Given the description of an element on the screen output the (x, y) to click on. 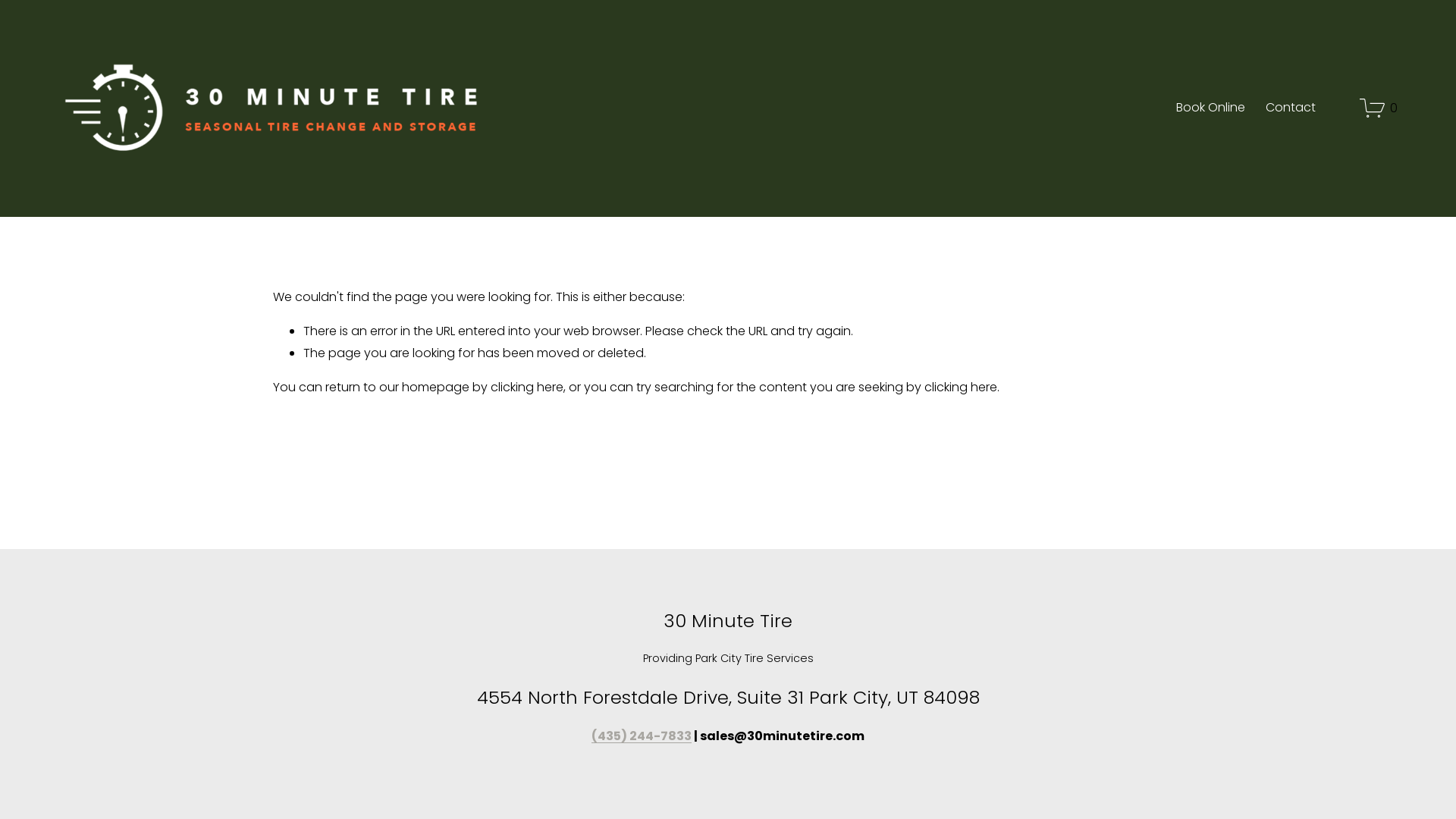
(435) 244-7833 Element type: text (641, 736)
clicking here Element type: text (526, 386)
Contact Element type: text (1290, 108)
Book Online Element type: text (1210, 108)
0 Element type: text (1378, 107)
clicking here Element type: text (960, 386)
